Given the description of an element on the screen output the (x, y) to click on. 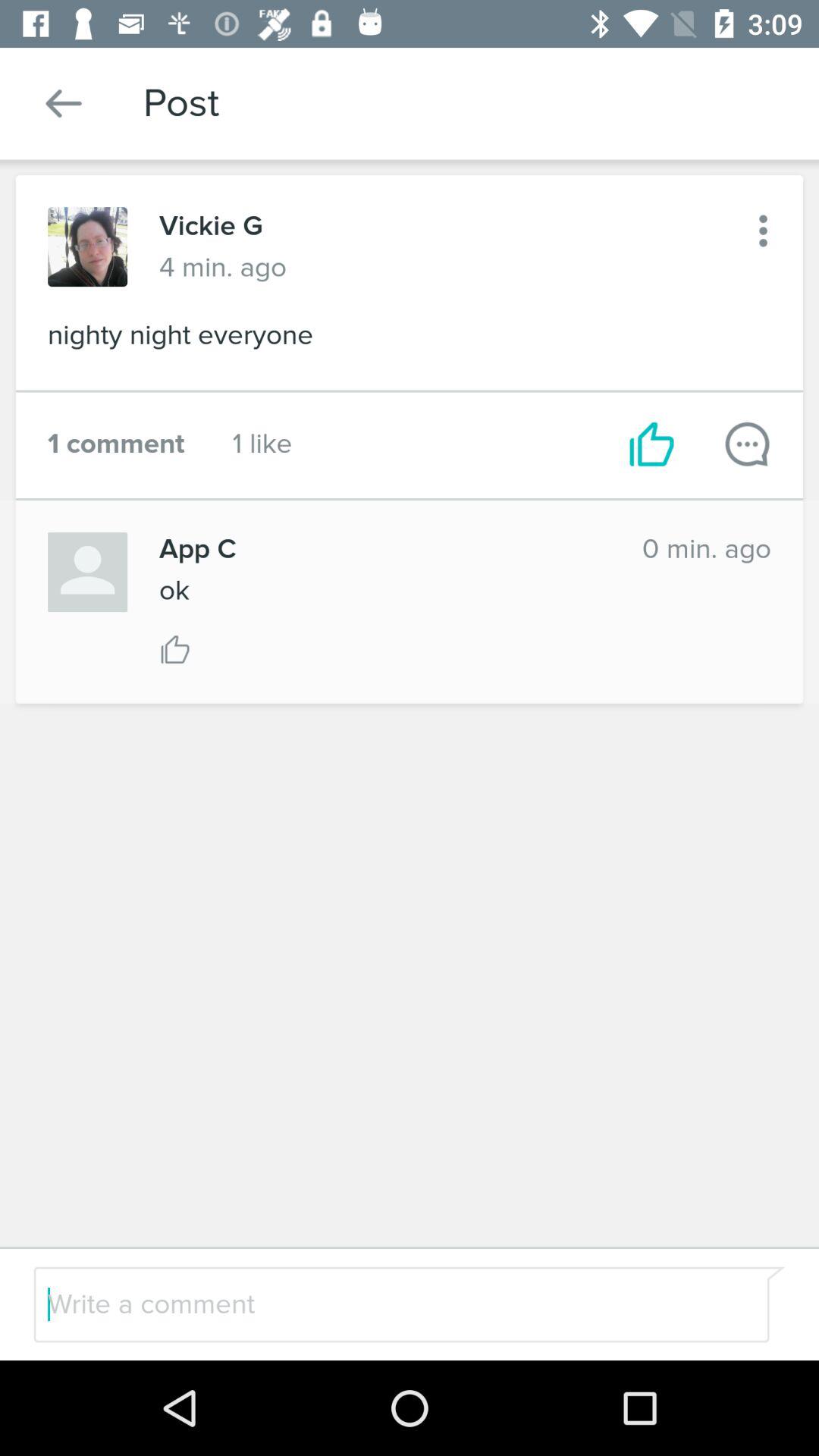
flip to vickie g icon (210, 225)
